Given the description of an element on the screen output the (x, y) to click on. 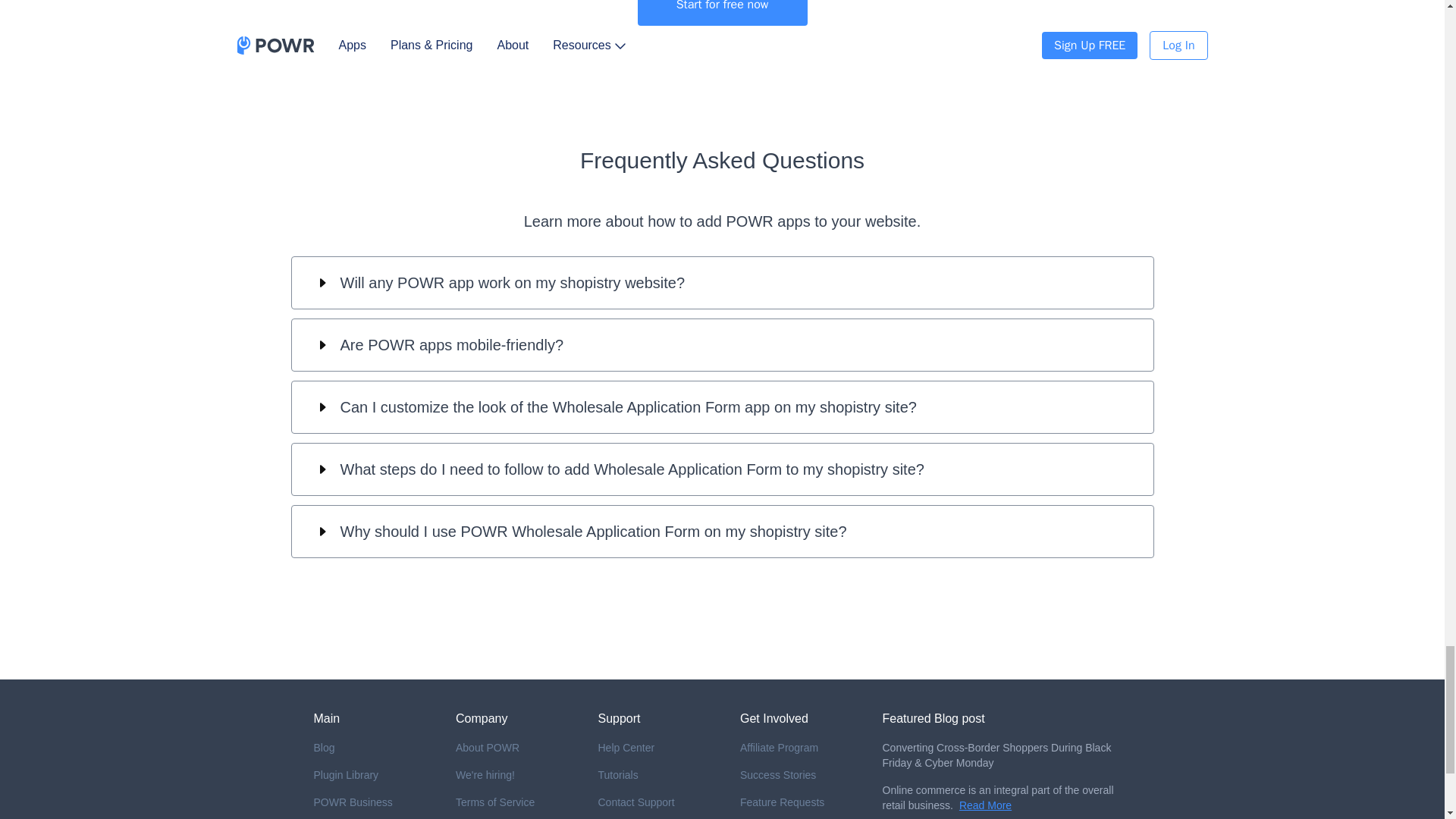
Blog (373, 747)
Are POWR apps mobile-friendly? (722, 345)
Will any POWR app work on my shopistry website? (722, 282)
Start for free now (721, 12)
